Given the description of an element on the screen output the (x, y) to click on. 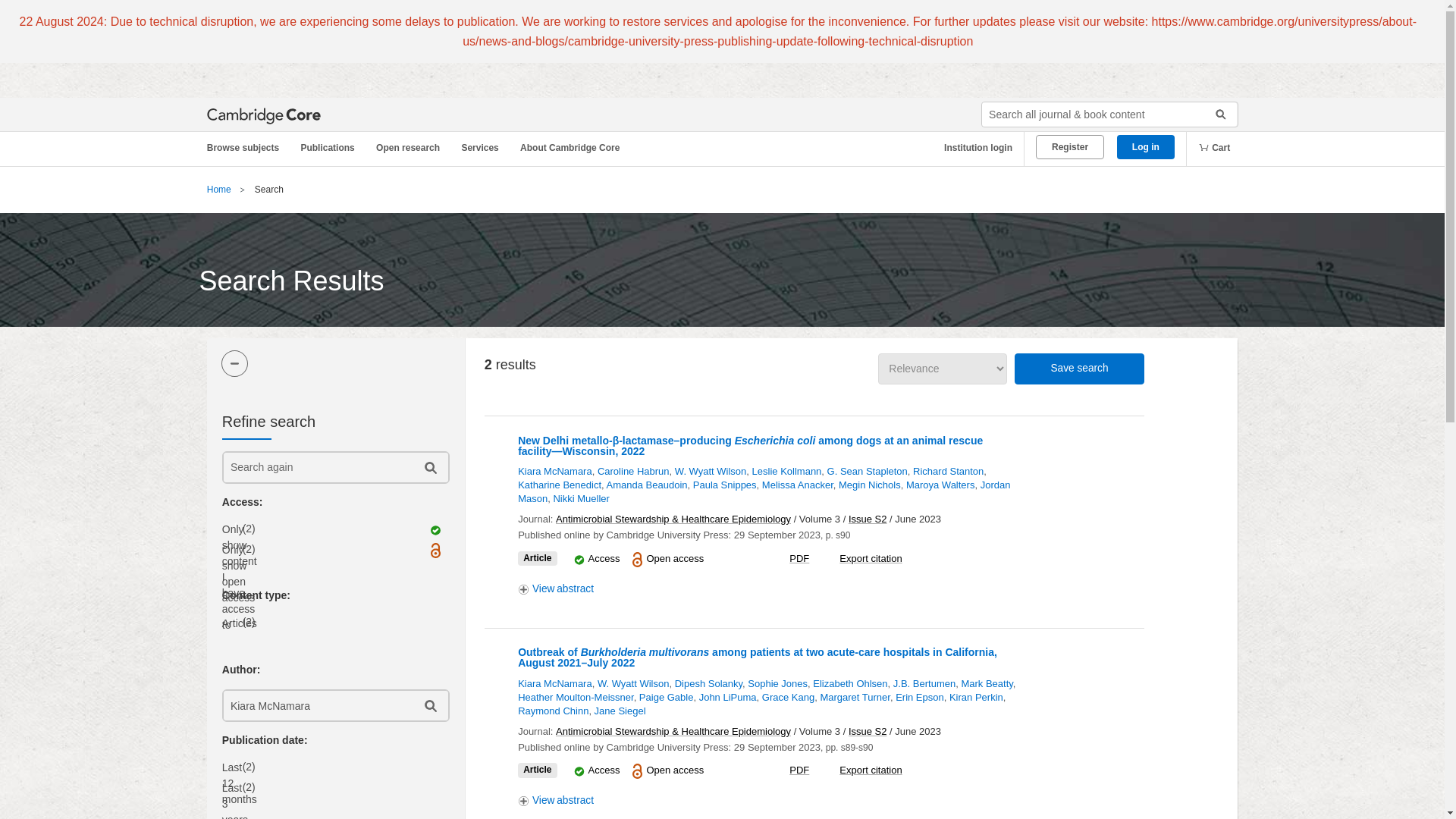
You have access to this product (579, 770)
Kiara McNamara (316, 705)
Institution login (972, 147)
Submit refine search (429, 467)
Submit author search (429, 705)
Publications (330, 147)
Register (1069, 146)
You have access to this product (579, 559)
Services (482, 147)
You have access to this product (604, 558)
